Given the description of an element on the screen output the (x, y) to click on. 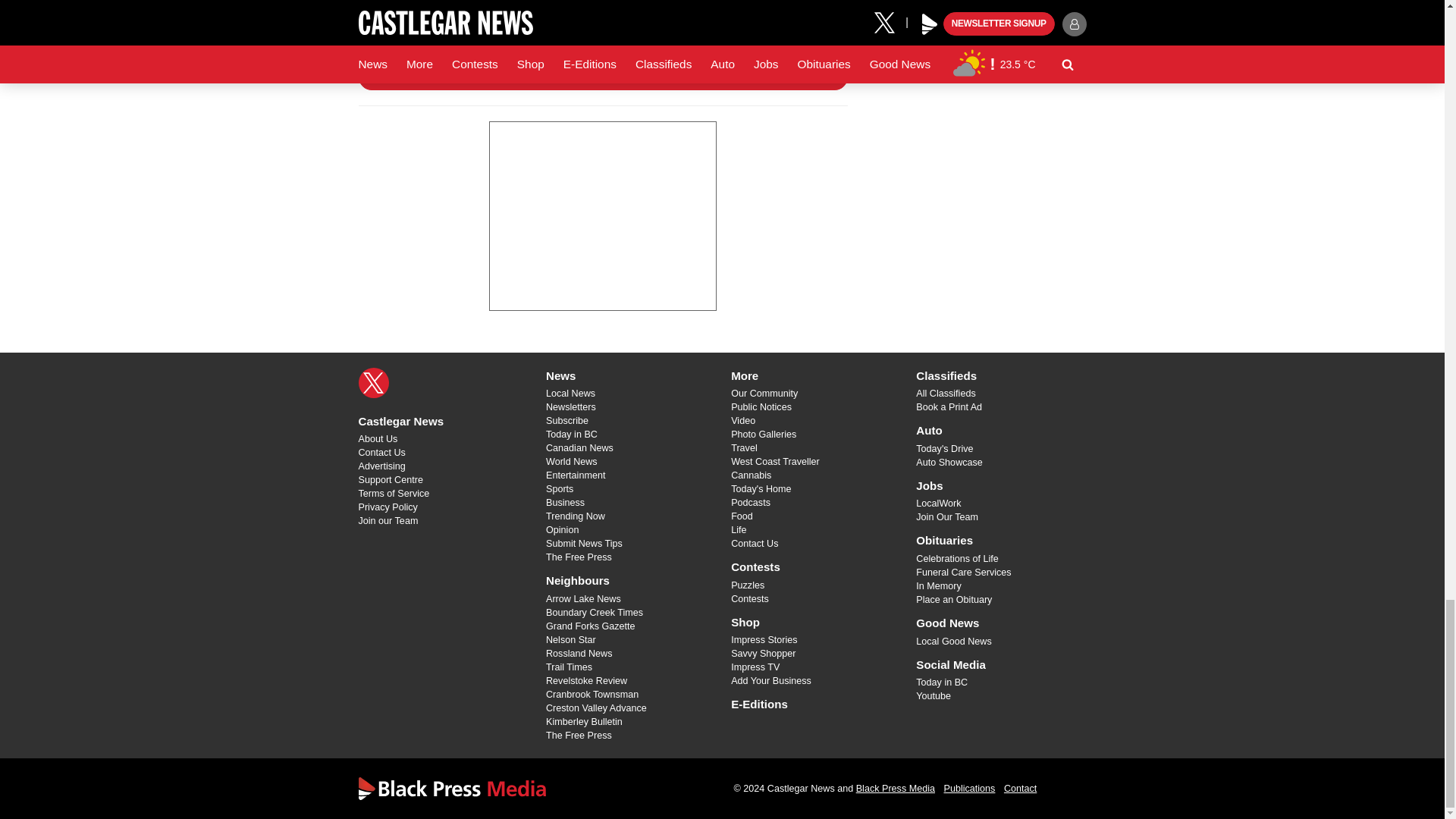
Show Comments (602, 77)
3rd party ad content (602, 216)
X (373, 382)
